Given the description of an element on the screen output the (x, y) to click on. 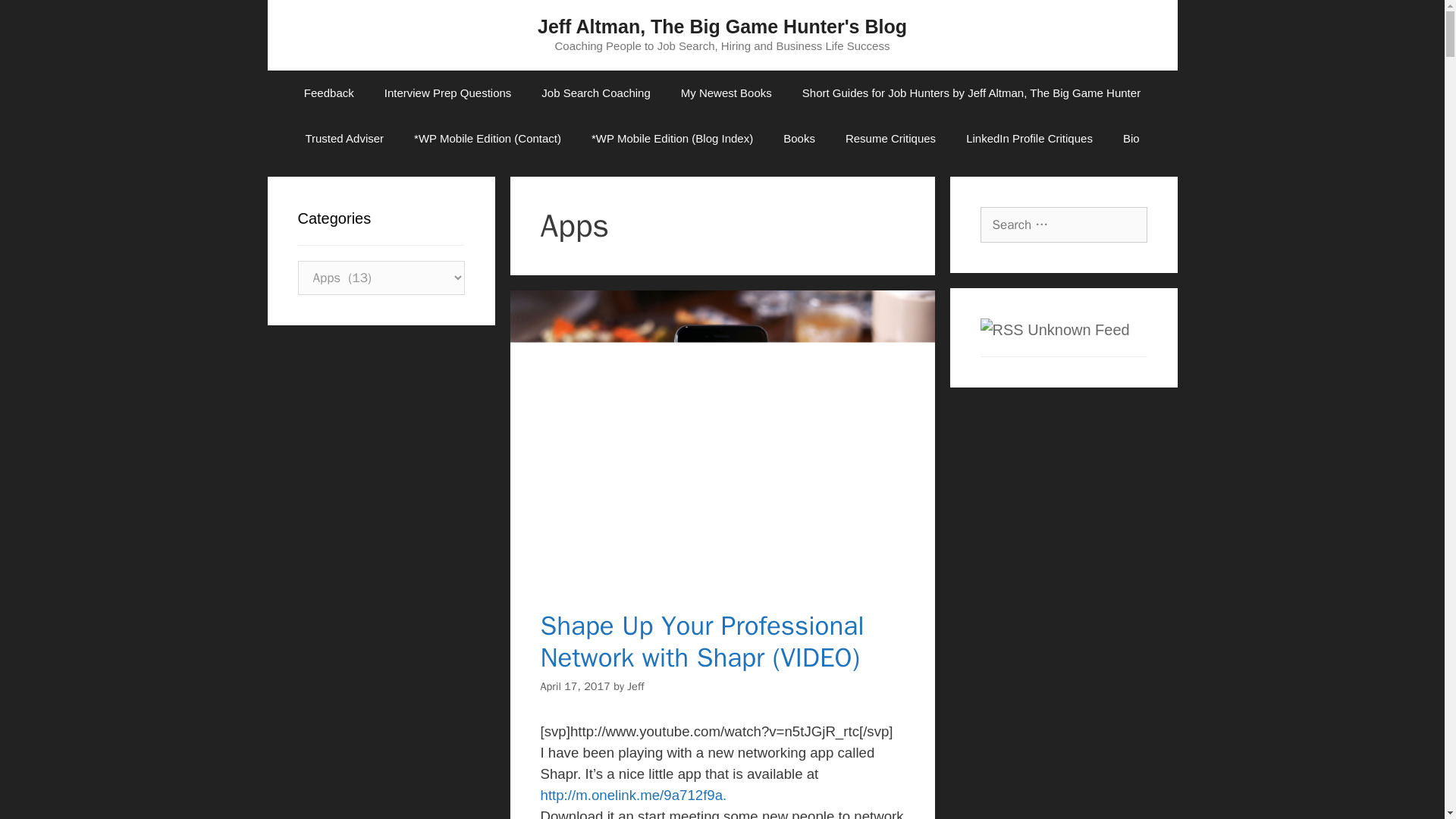
Job Search Coaching (595, 92)
Feedback (328, 92)
Search for: (1063, 224)
Trusted Adviser (343, 137)
Books (798, 137)
LinkedIn Profile Critiques (1029, 137)
Jeff Altman, The Big Game Hunter's Blog (722, 25)
Bio (1131, 137)
Interview Prep Questions (448, 92)
My Newest Books (726, 92)
